Given the description of an element on the screen output the (x, y) to click on. 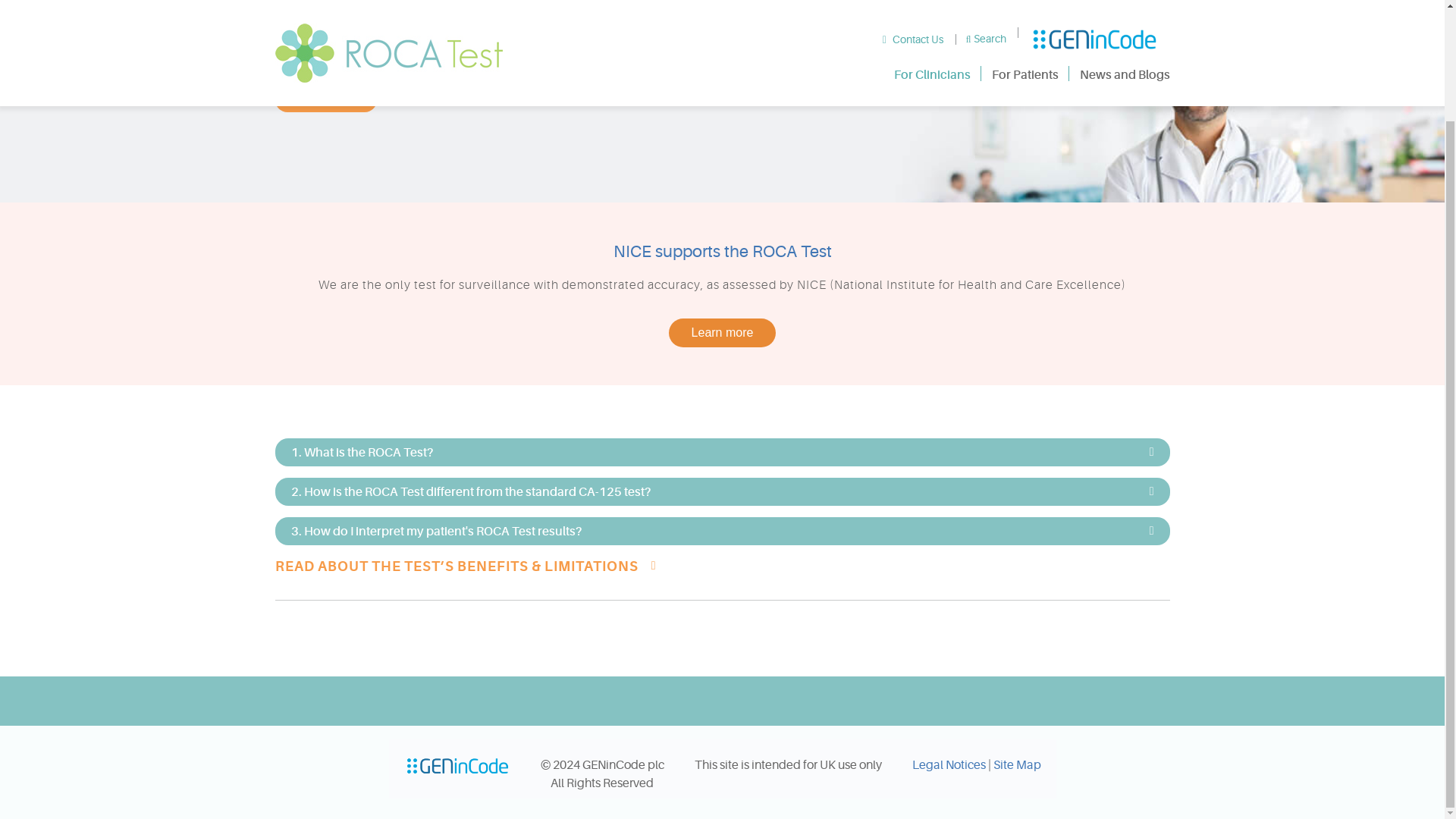
Site Map (1016, 765)
Learn more (722, 332)
CONTACT US (325, 100)
Legal Notices (948, 765)
Learn more (722, 332)
GeninCode (456, 765)
1. What is the ROCA Test? (722, 452)
3. How do I interpret my patient's ROCA Test results? (722, 530)
